Given the description of an element on the screen output the (x, y) to click on. 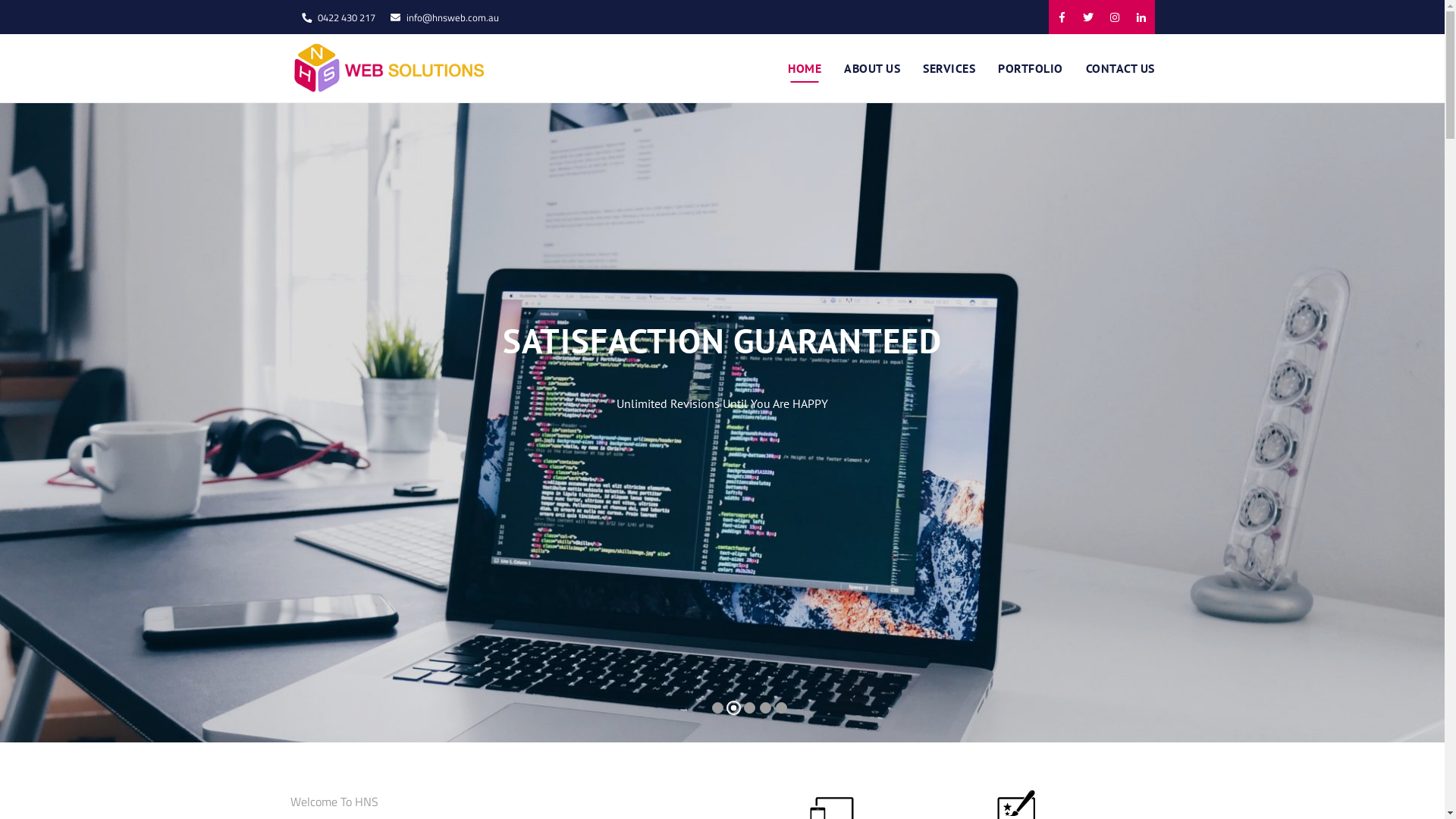
ABOUT US Element type: text (871, 68)
PORTFOLIO Element type: text (1030, 68)
info@hnsweb.com.au Element type: text (452, 17)
CONTACT US Element type: text (1119, 68)
SERVICES Element type: text (948, 68)
0422 430 217 Element type: text (345, 17)
HOME Element type: text (804, 68)
